Given the description of an element on the screen output the (x, y) to click on. 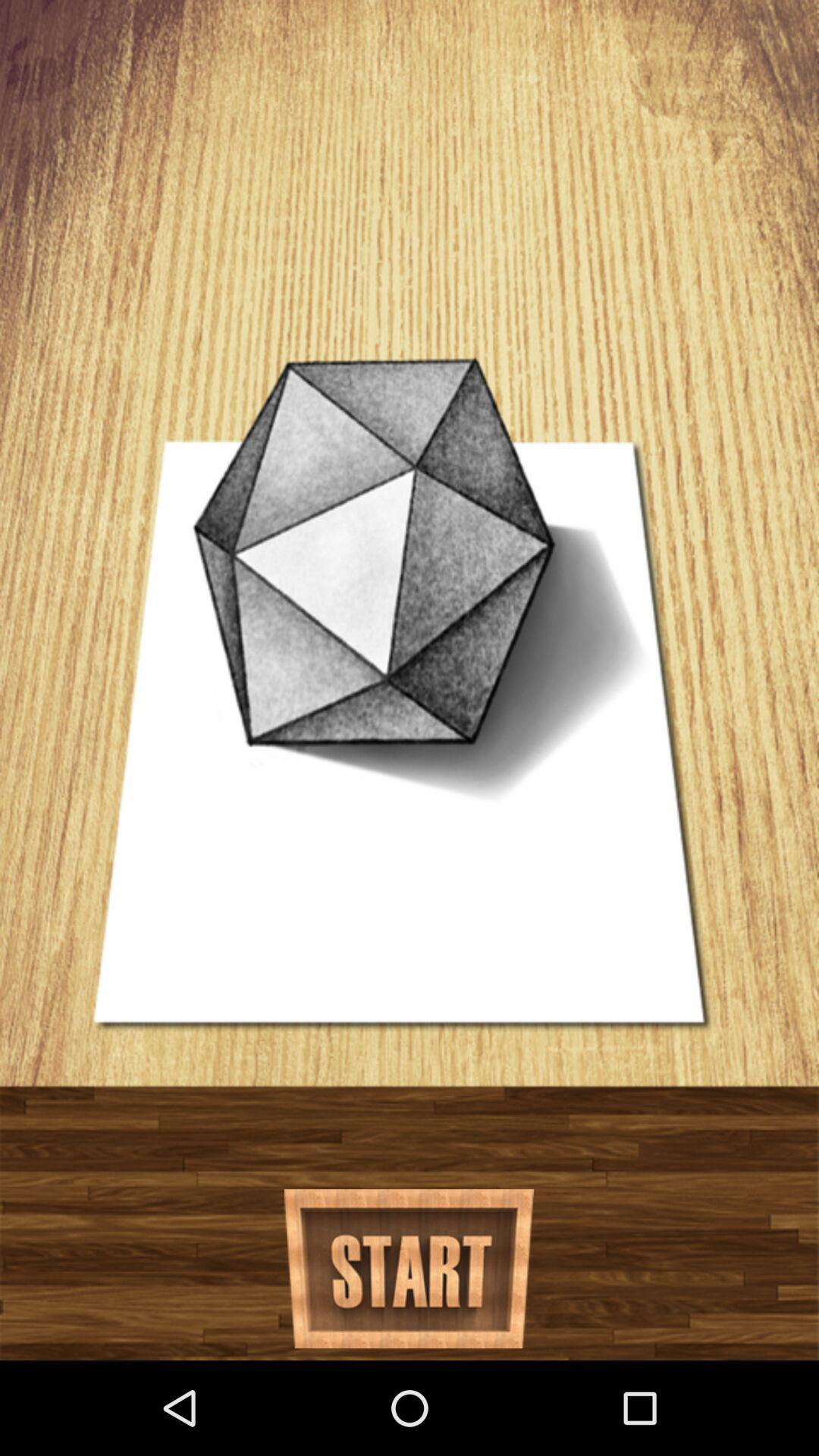
go start (409, 1268)
